Given the description of an element on the screen output the (x, y) to click on. 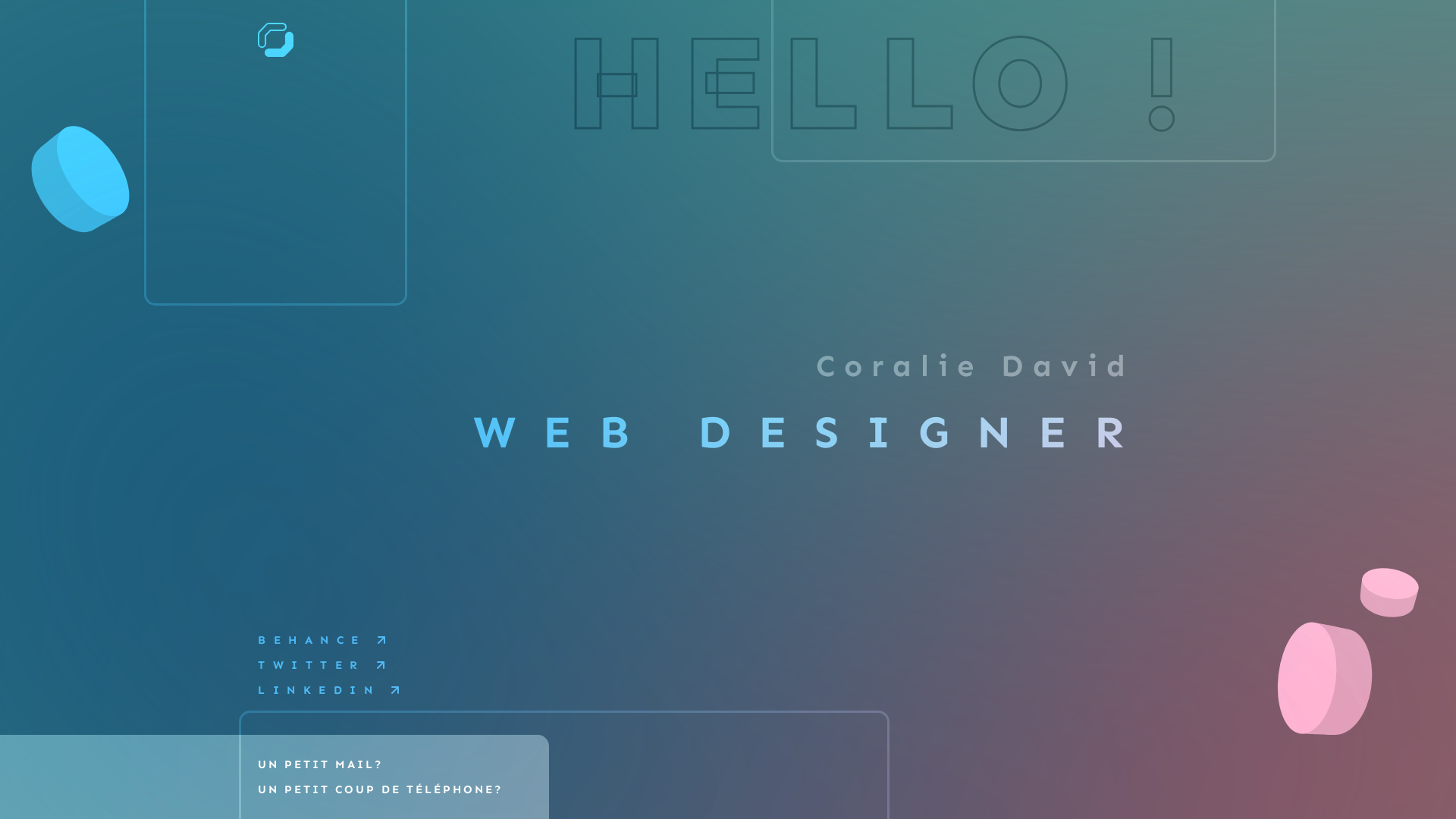
LINKEDIN Element type: text (318, 689)
BEHANCE Element type: text (311, 639)
UN PETIT MAIL? Element type: text (320, 764)
TWITTER Element type: text (311, 664)
